Given the description of an element on the screen output the (x, y) to click on. 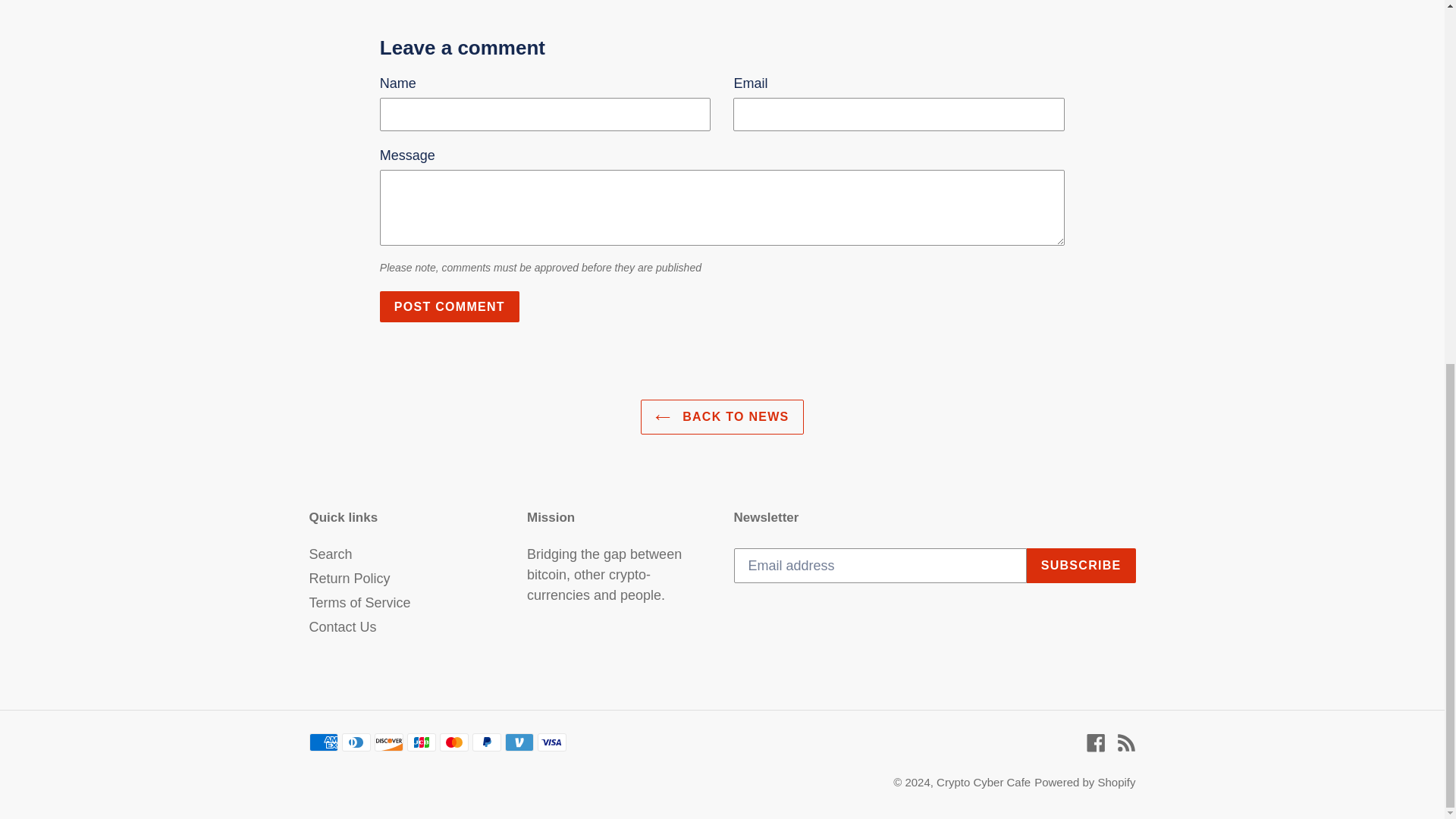
Terms of Service (359, 602)
BACK TO NEWS (721, 416)
Post comment (449, 306)
SUBSCRIBE (1080, 565)
RSS (1125, 742)
Crypto Cyber Cafe (983, 781)
Search (330, 554)
Post comment (449, 306)
Contact Us (342, 626)
Facebook (1095, 742)
